Given the description of an element on the screen output the (x, y) to click on. 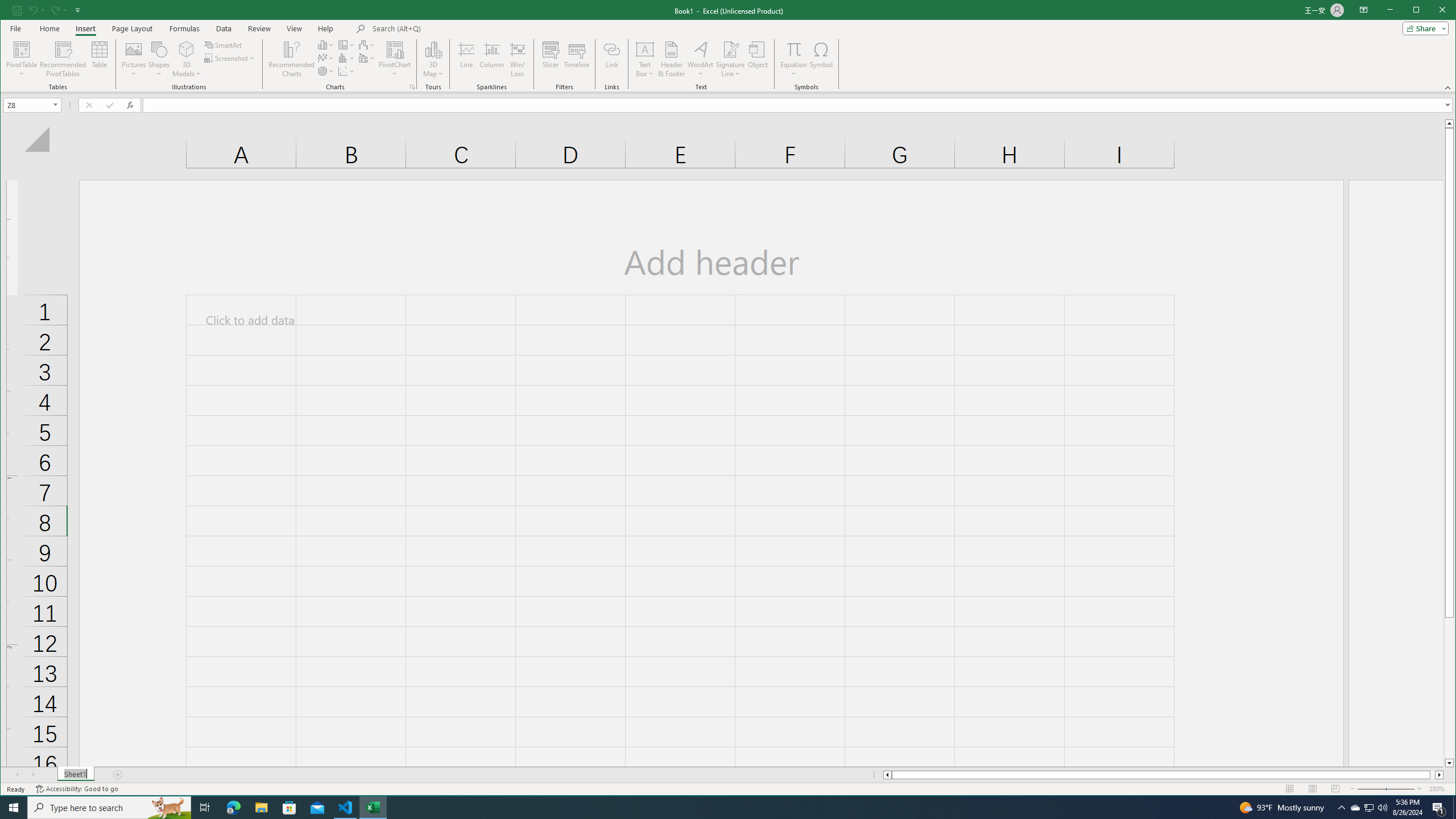
Type here to search (108, 807)
Sheet Tab (75, 774)
Insert Statistic Chart (346, 57)
Win/Loss (517, 59)
Line (466, 59)
Class: MsoCommandBar (728, 45)
